Given the description of an element on the screen output the (x, y) to click on. 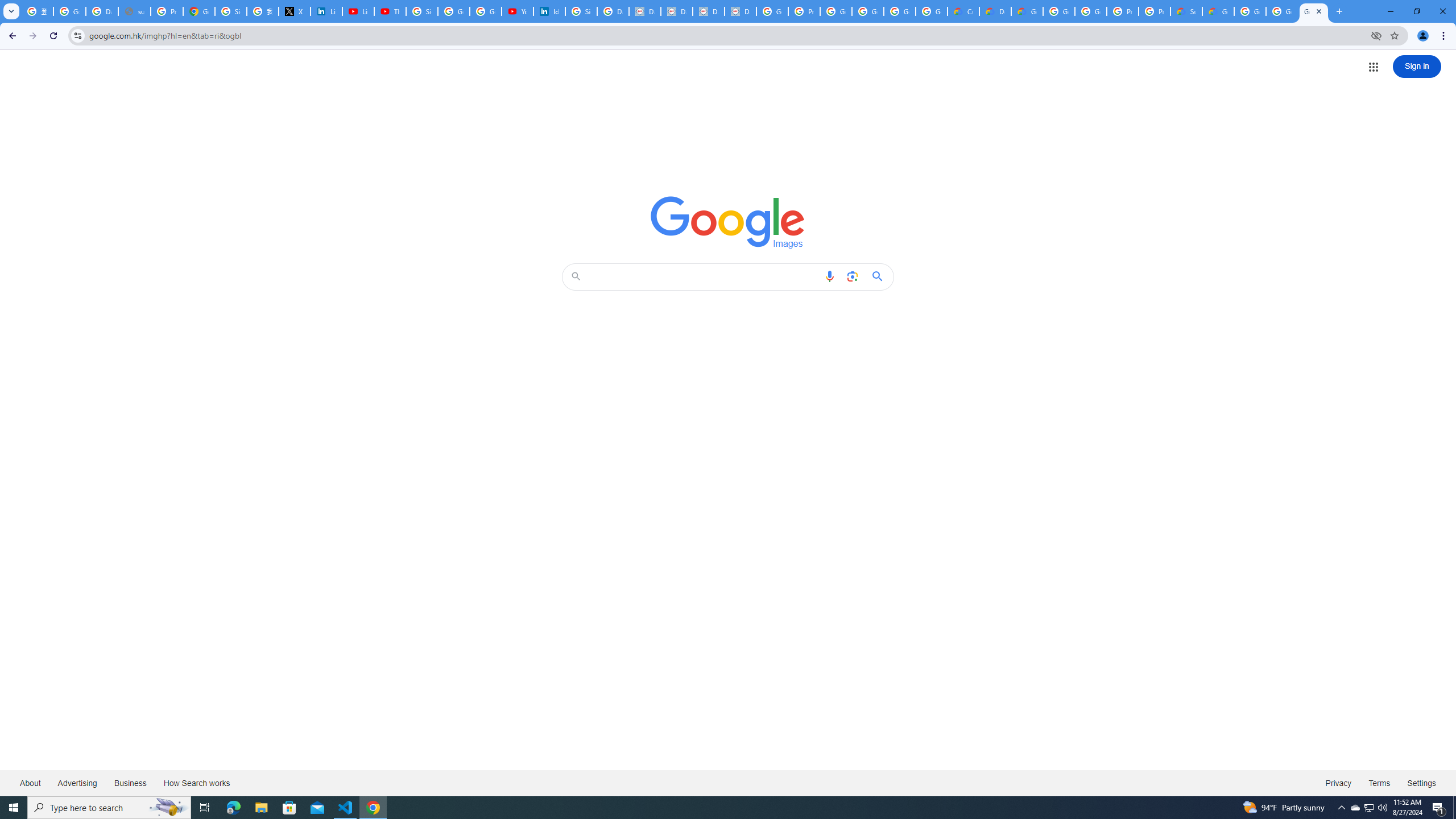
Google Cloud Platform (1091, 11)
Data Privacy Framework (644, 11)
Data Privacy Framework (708, 11)
Business (129, 782)
